Given the description of an element on the screen output the (x, y) to click on. 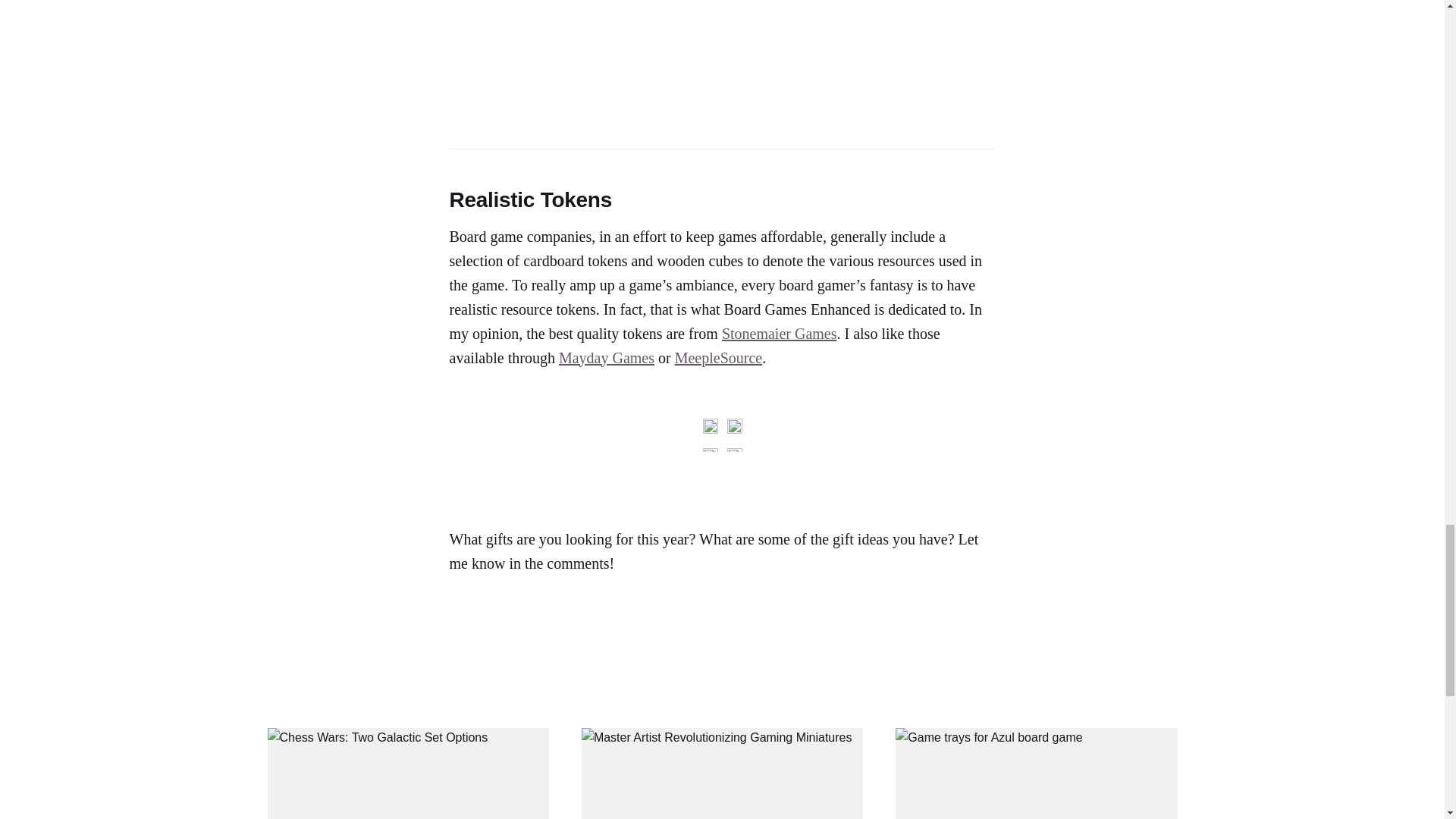
Mayday Games (606, 357)
MeepleSource (718, 357)
Stonemaier Games (779, 333)
